Given the description of an element on the screen output the (x, y) to click on. 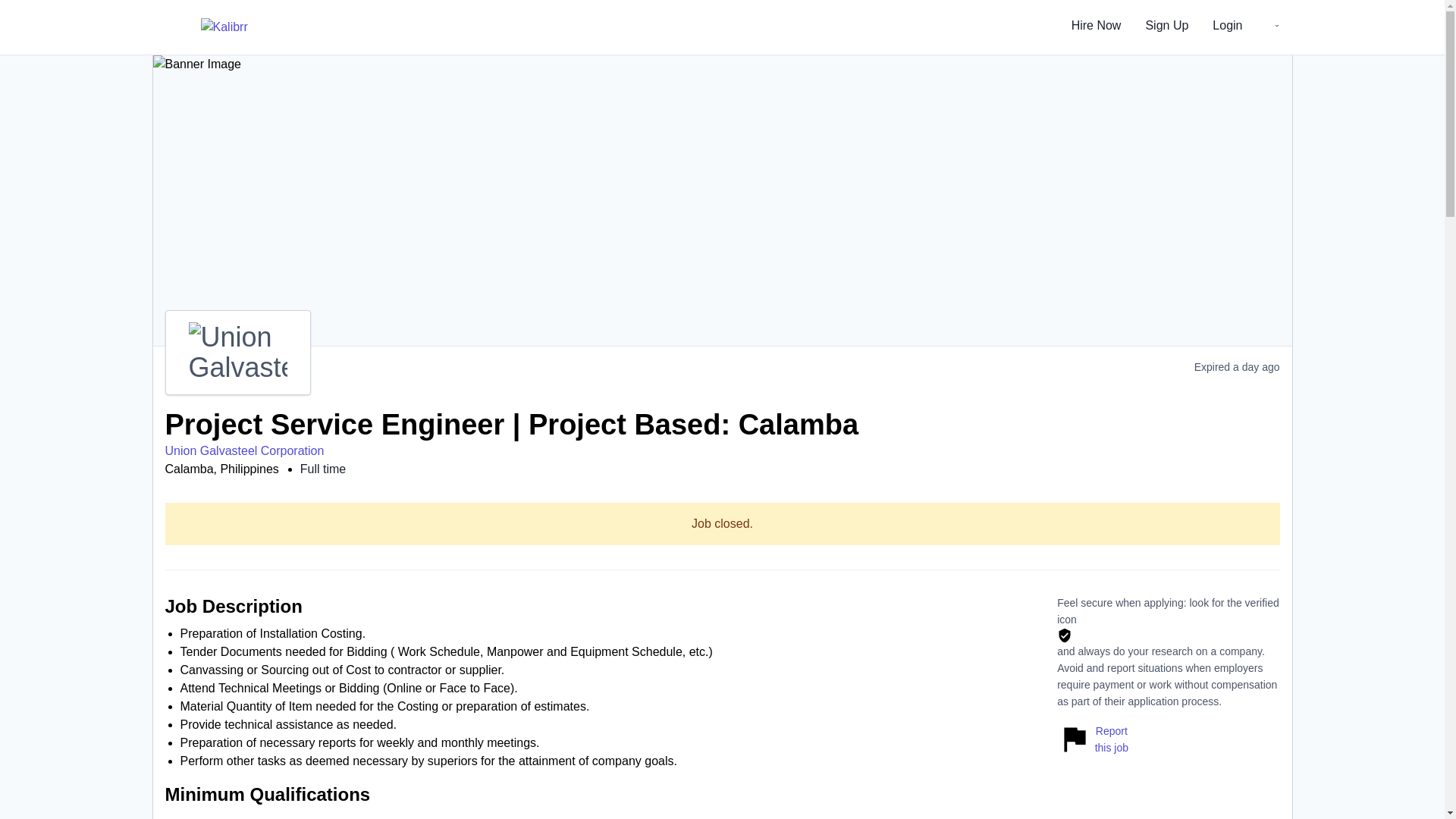
Full time (322, 468)
Report this job (1092, 738)
Hire Now (1096, 27)
Login (1226, 27)
Sign Up (1165, 27)
Union Galvasteel Corporation (244, 451)
